Given the description of an element on the screen output the (x, y) to click on. 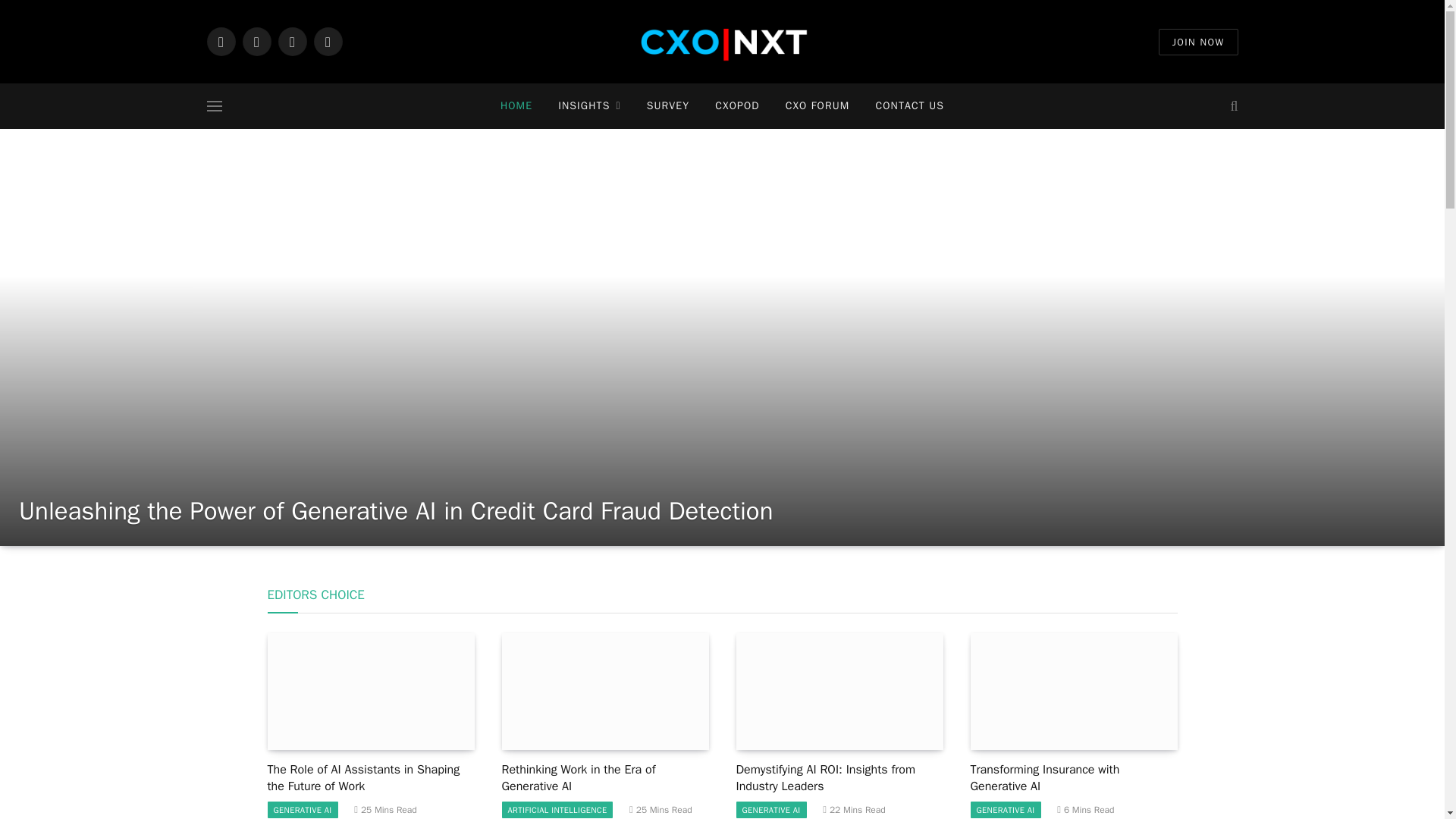
INSIGHTS (588, 105)
Facebook (291, 41)
JOIN NOW (1198, 41)
HOME (515, 105)
YouTube (328, 41)
LinkedIn (220, 41)
